Given the description of an element on the screen output the (x, y) to click on. 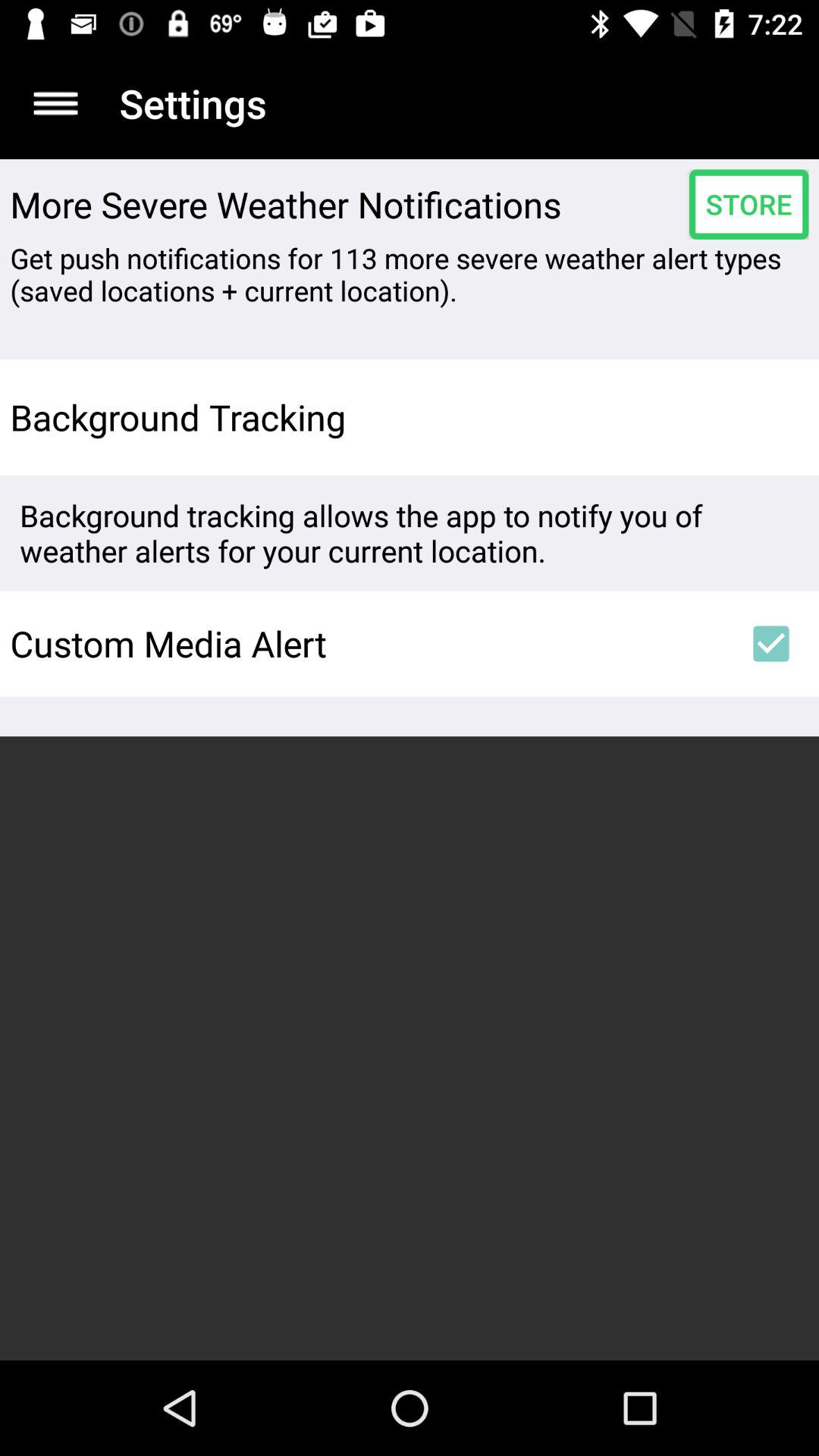
swipe to the custom media alert item (366, 643)
